Given the description of an element on the screen output the (x, y) to click on. 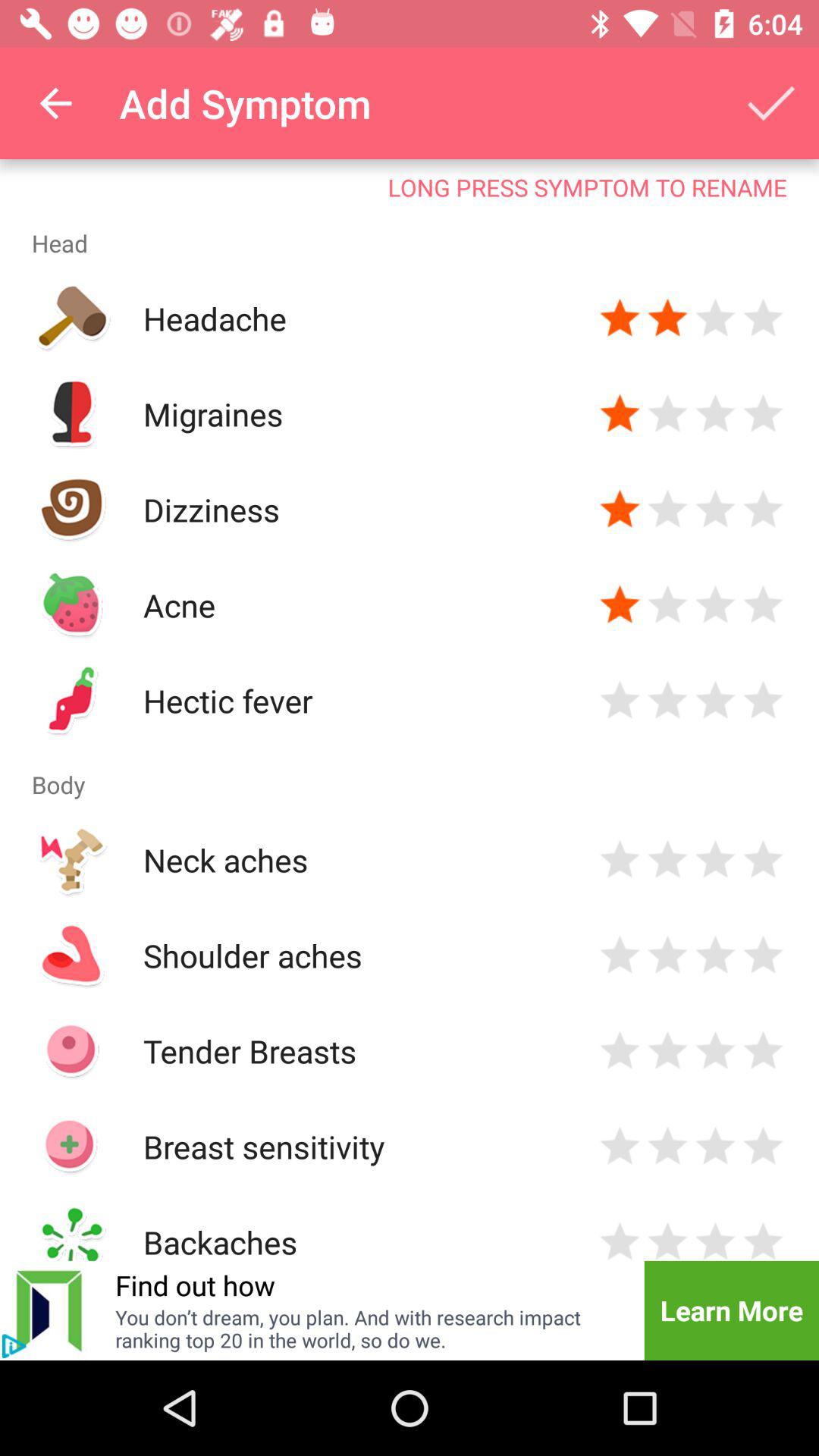
star rating (715, 1239)
